Given the description of an element on the screen output the (x, y) to click on. 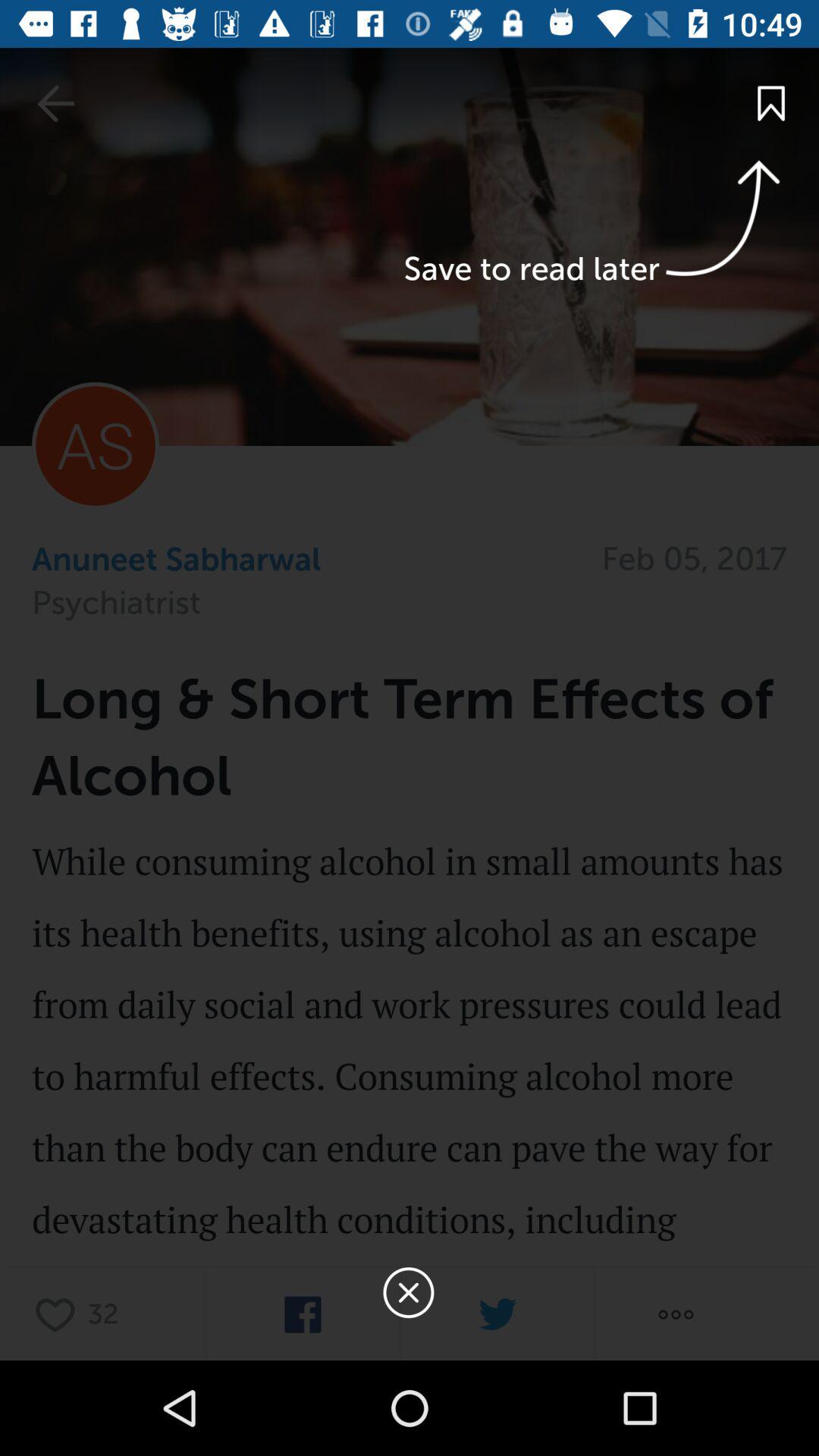
add to favorites (59, 1314)
